Given the description of an element on the screen output the (x, y) to click on. 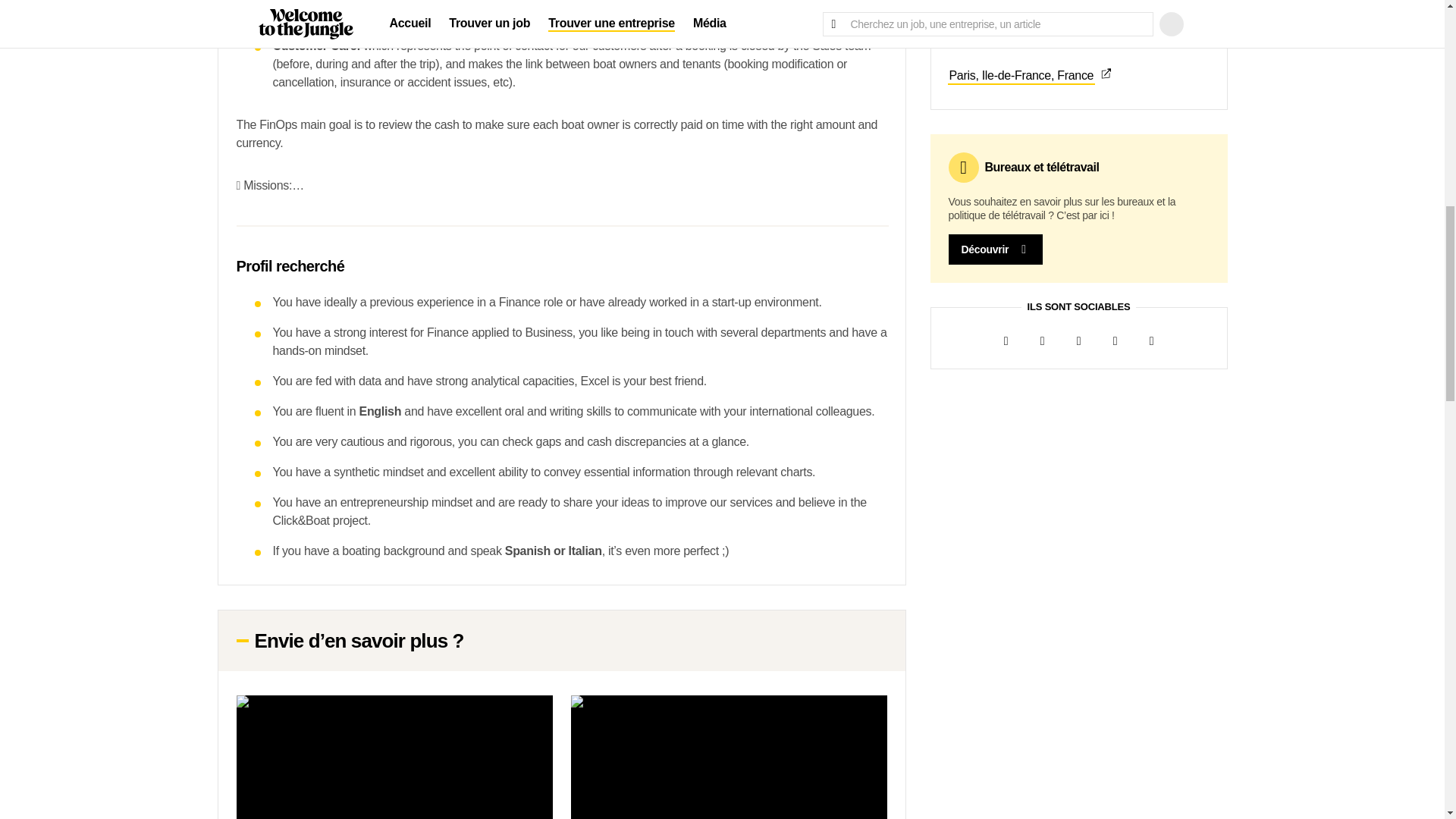
Paris, Ile-de-France, France (1078, 75)
